Given the description of an element on the screen output the (x, y) to click on. 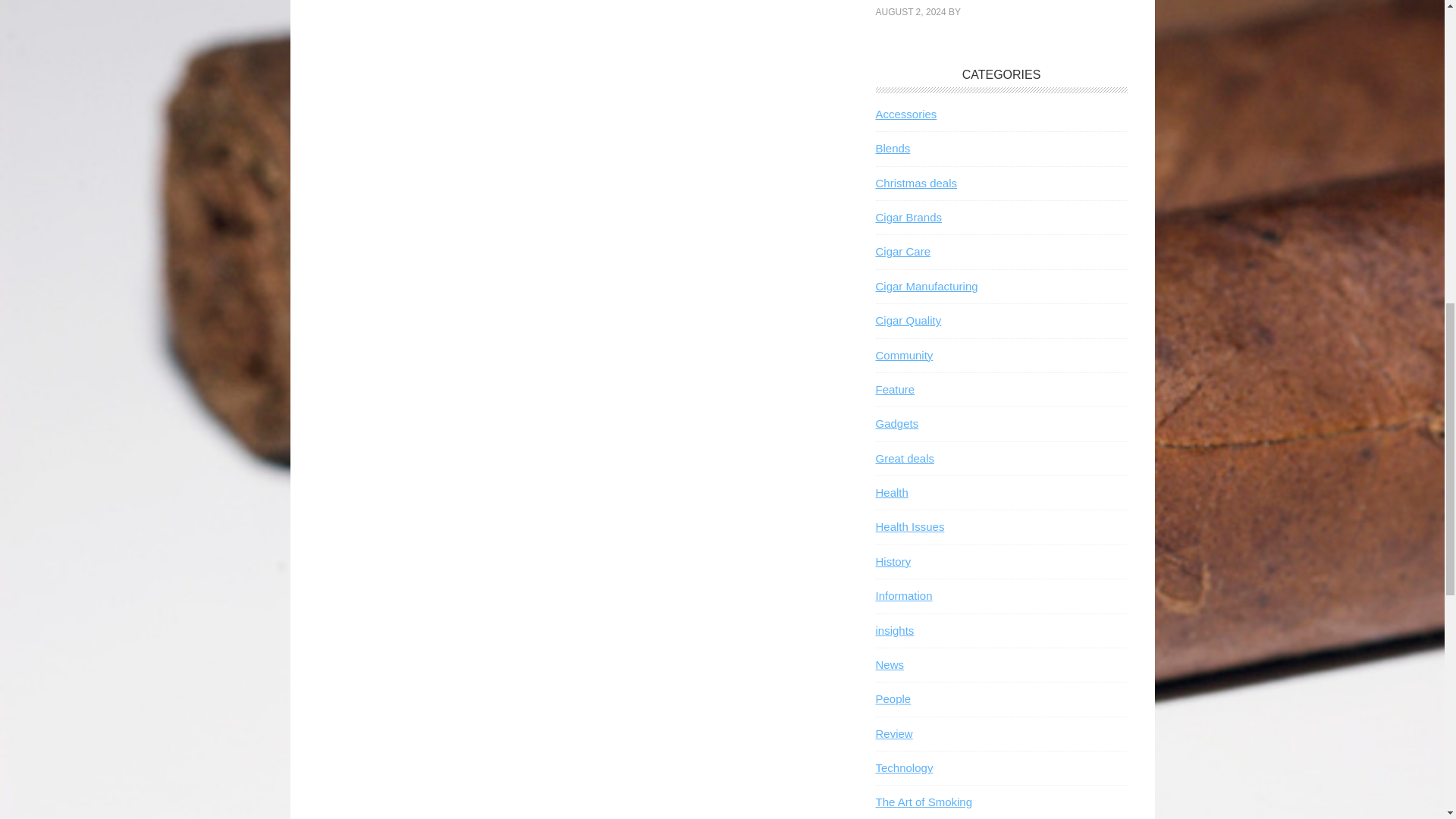
History (893, 561)
Feature (894, 389)
Cigar Care (902, 250)
Cigar Manufacturing (925, 286)
Blends (892, 147)
The Art of Smoking (923, 801)
Review (893, 733)
Cigar Brands (908, 216)
People (893, 698)
News (889, 664)
